Given the description of an element on the screen output the (x, y) to click on. 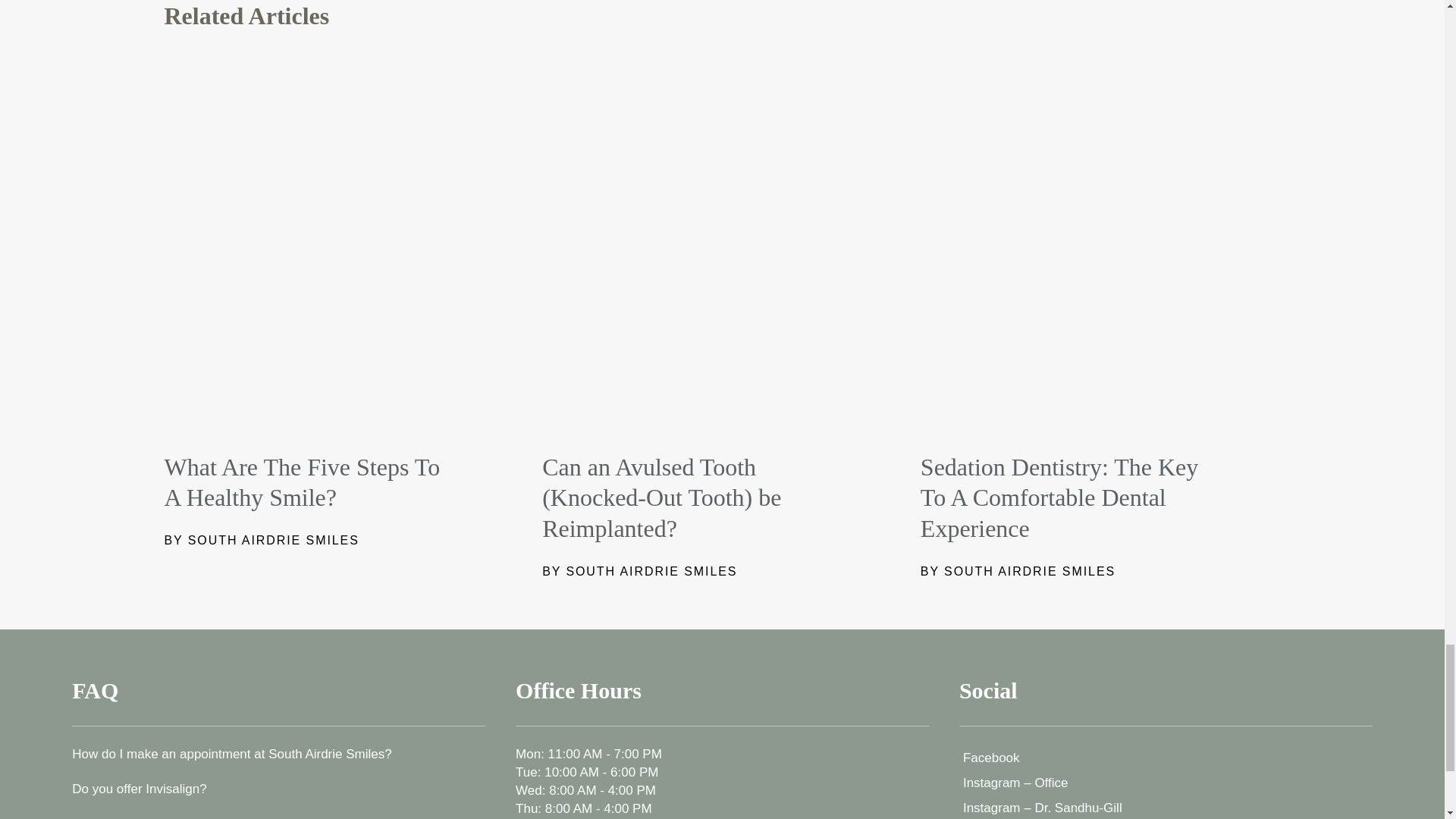
What Are The Five Steps To A Healthy Smile? (301, 482)
Facebook (1166, 757)
